Given the description of an element on the screen output the (x, y) to click on. 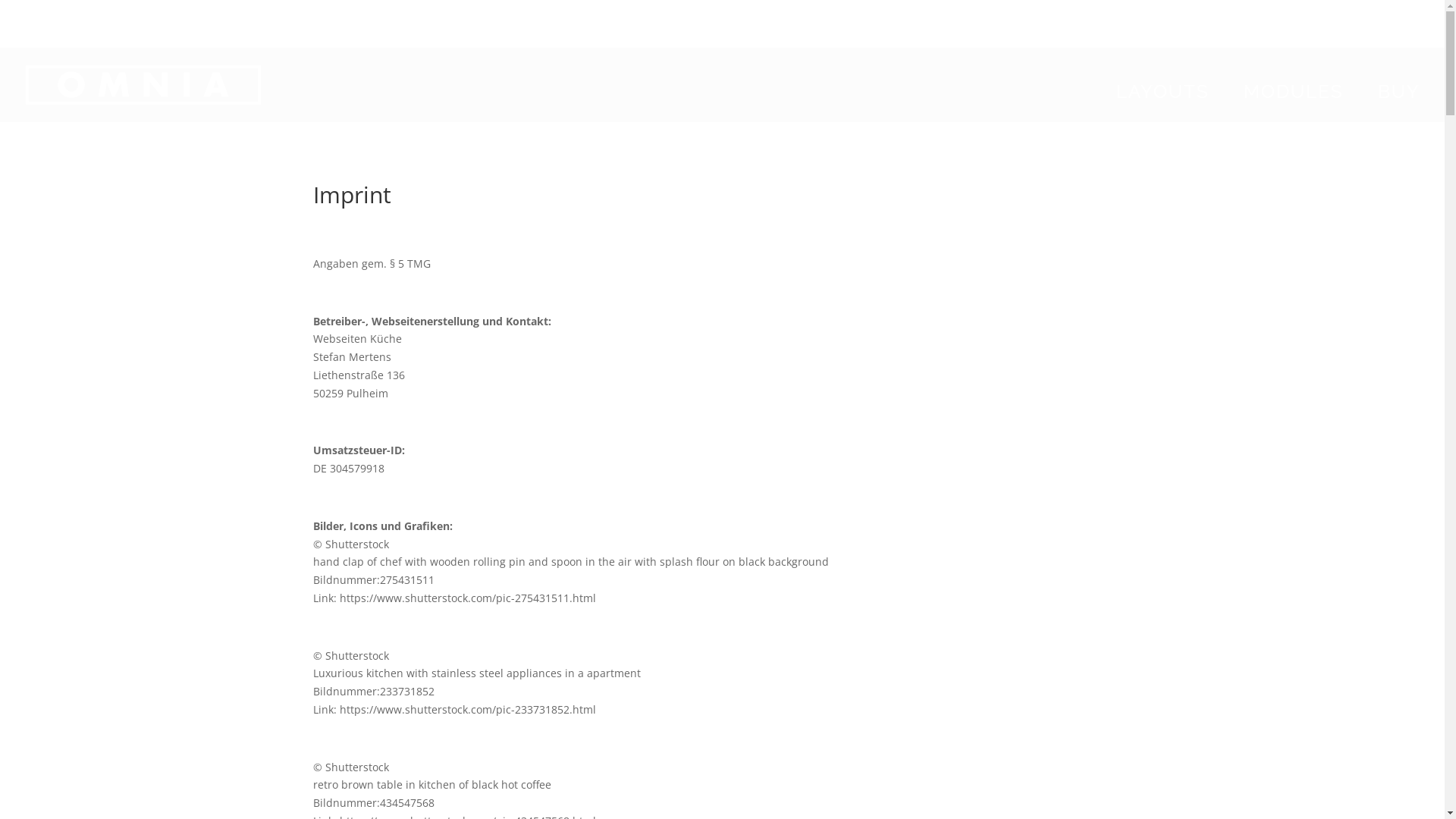
MODULES Element type: text (1300, 104)
GET IN TOUCH Element type: text (1138, 20)
LAYOUTS Element type: text (1170, 104)
BUY Element type: text (1398, 104)
info@omniatheme.com Element type: text (1364, 18)
